Given the description of an element on the screen output the (x, y) to click on. 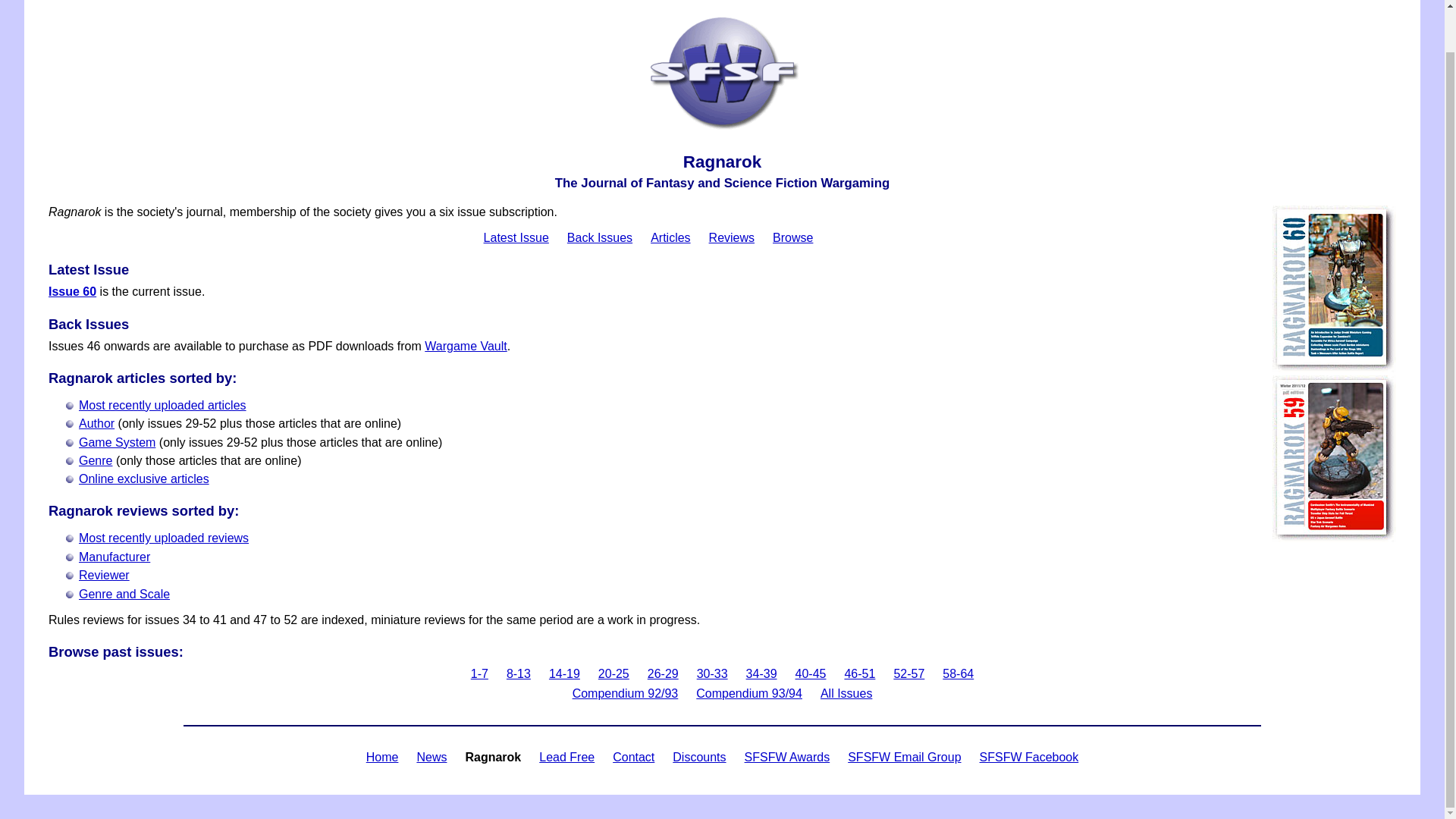
Reviewer (103, 574)
Manufacturer (113, 556)
30-33 (712, 673)
Discounts (698, 757)
26-29 (662, 673)
Genre and Scale (124, 594)
34-39 (761, 673)
8-13 (518, 673)
20-25 (613, 673)
Home (382, 757)
